Given the description of an element on the screen output the (x, y) to click on. 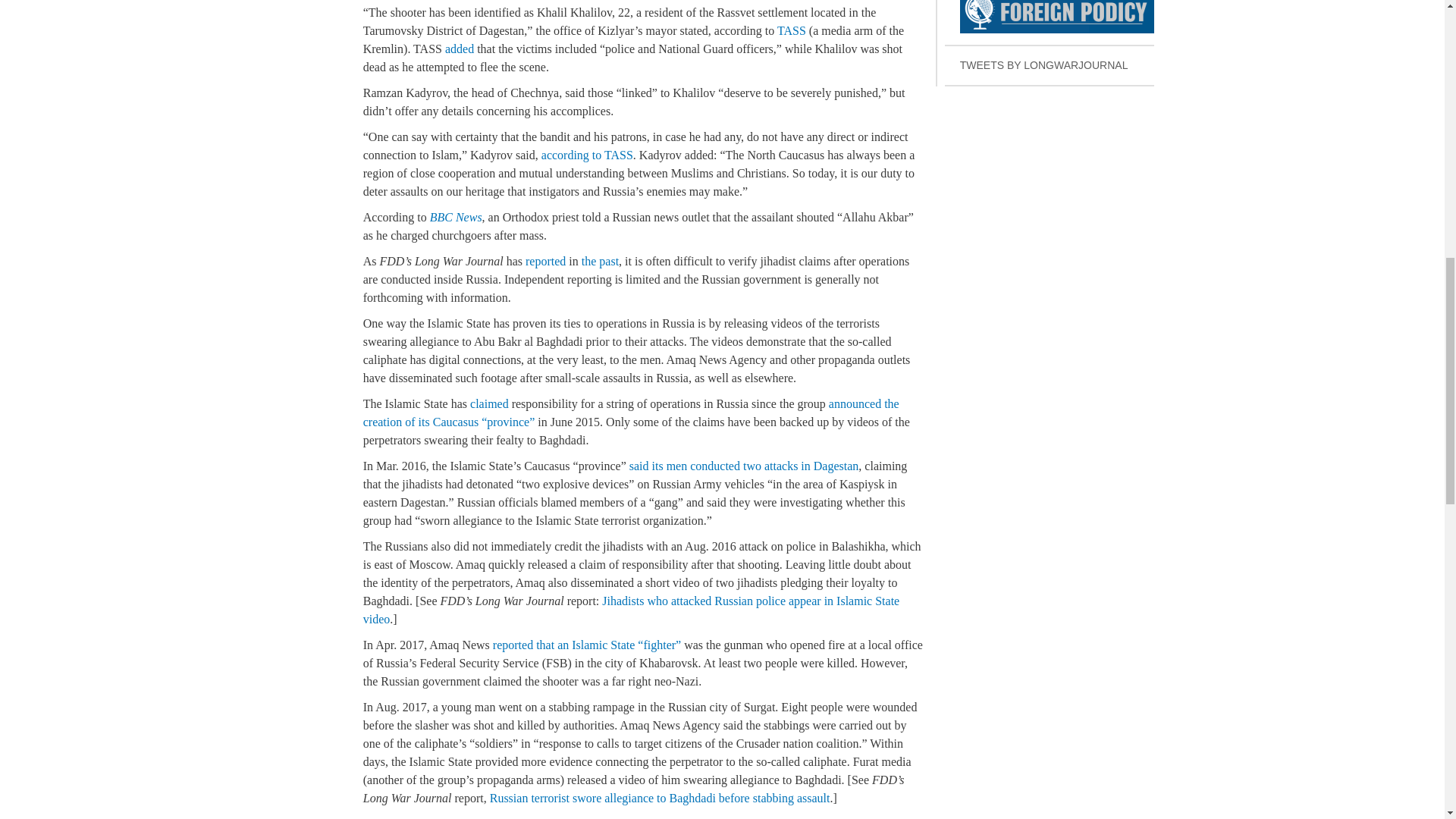
according to TASS (587, 154)
BBC News (455, 216)
claimed (1049, 22)
added (489, 403)
the past (459, 48)
said its men conducted two attacks in Dagestan (599, 260)
reported (743, 465)
TASS (545, 260)
